Given the description of an element on the screen output the (x, y) to click on. 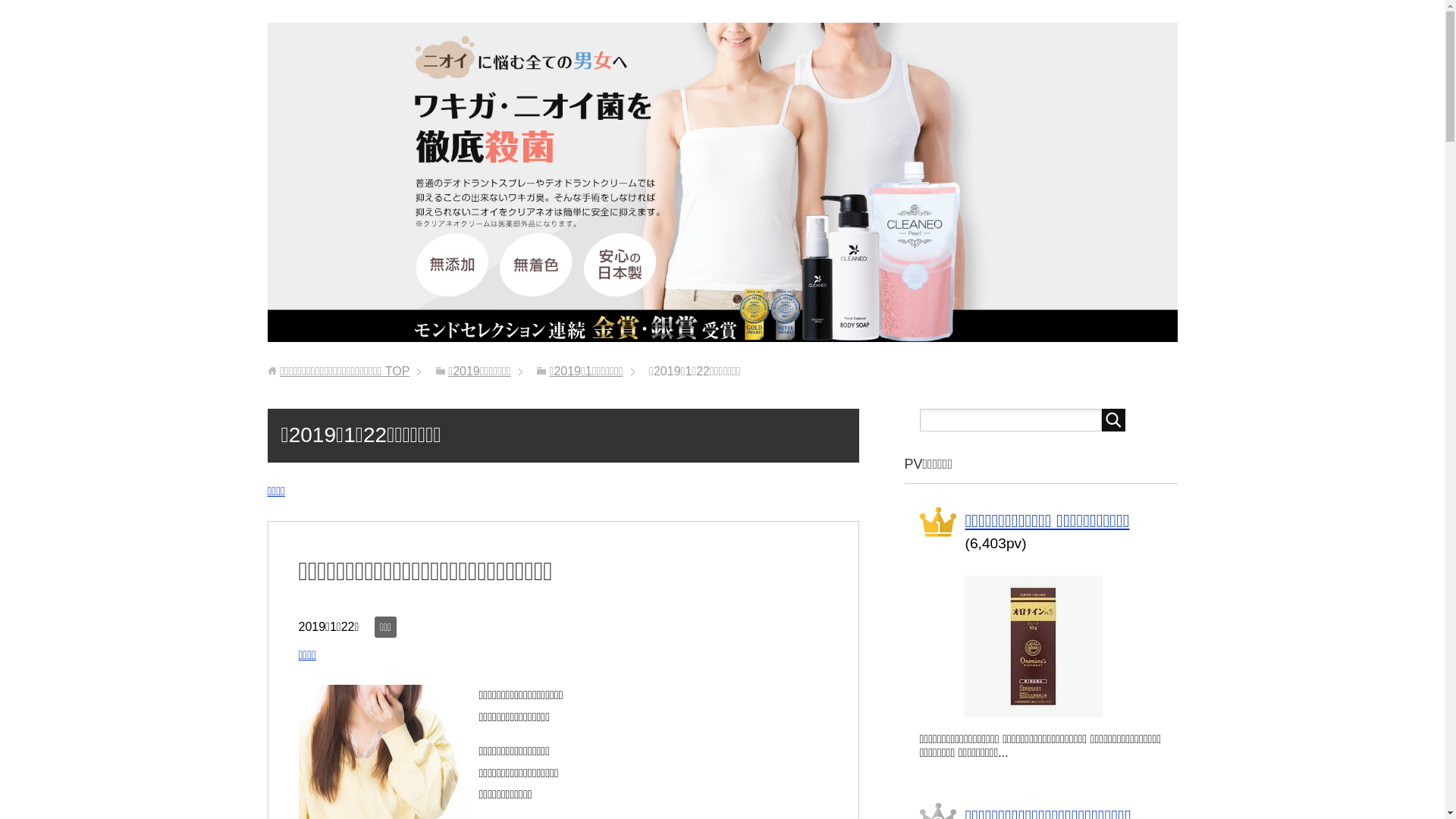
Add this entry to Hatena Bookmark. Element type: hover (317, 492)
Add this entry to Hatena Bookmark. Element type: hover (349, 656)
